Given the description of an element on the screen output the (x, y) to click on. 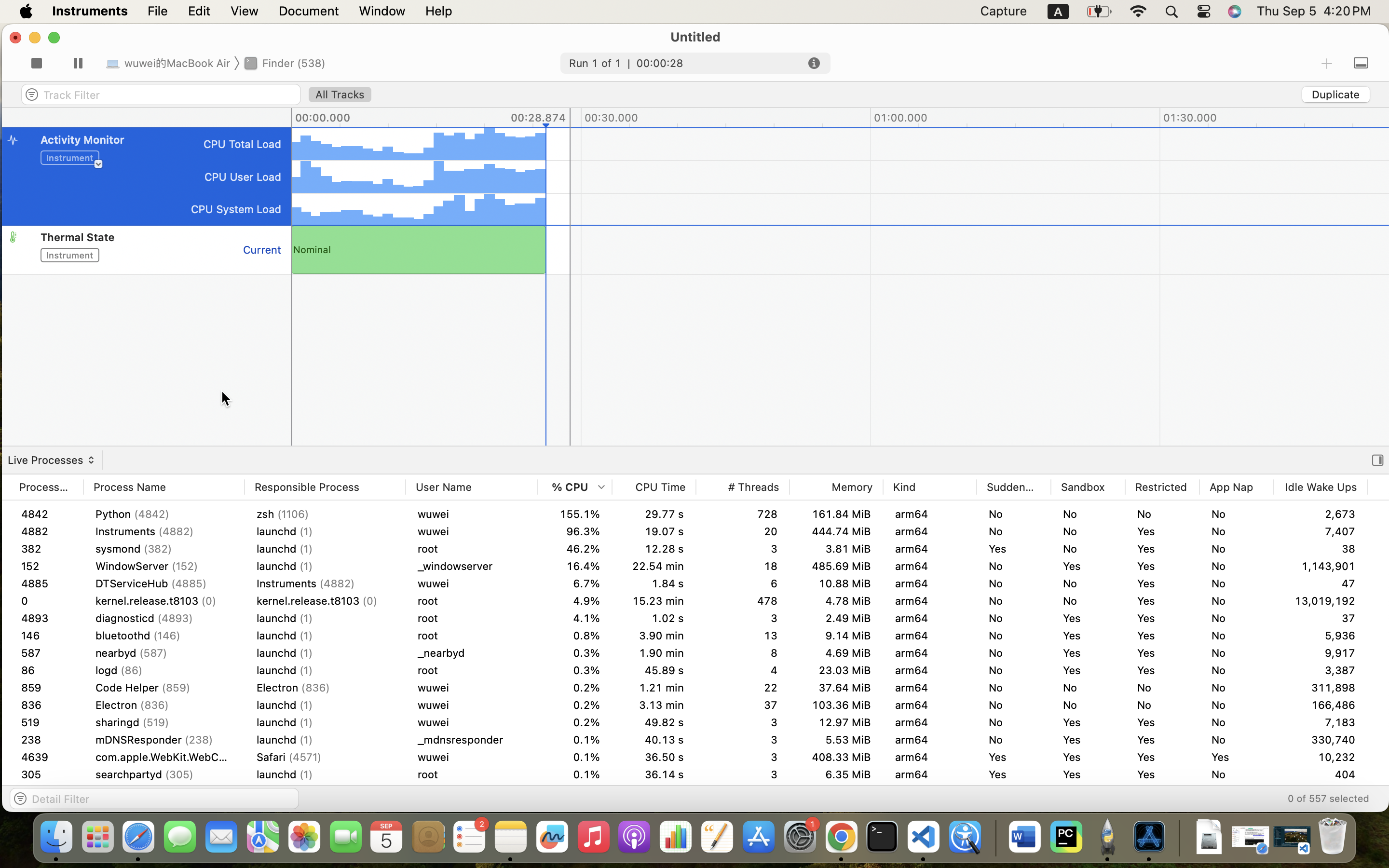
com.apple.WebKit.WebContent (4639) Element type: AXStaticText (163, 791)
1 Element type: AXStaticText (46, 808)
527.64 ms Element type: AXStaticText (653, 583)
4.70 MiB Element type: AXStaticText (835, 791)
311,718 Element type: AXStaticText (1320, 704)
